Given the description of an element on the screen output the (x, y) to click on. 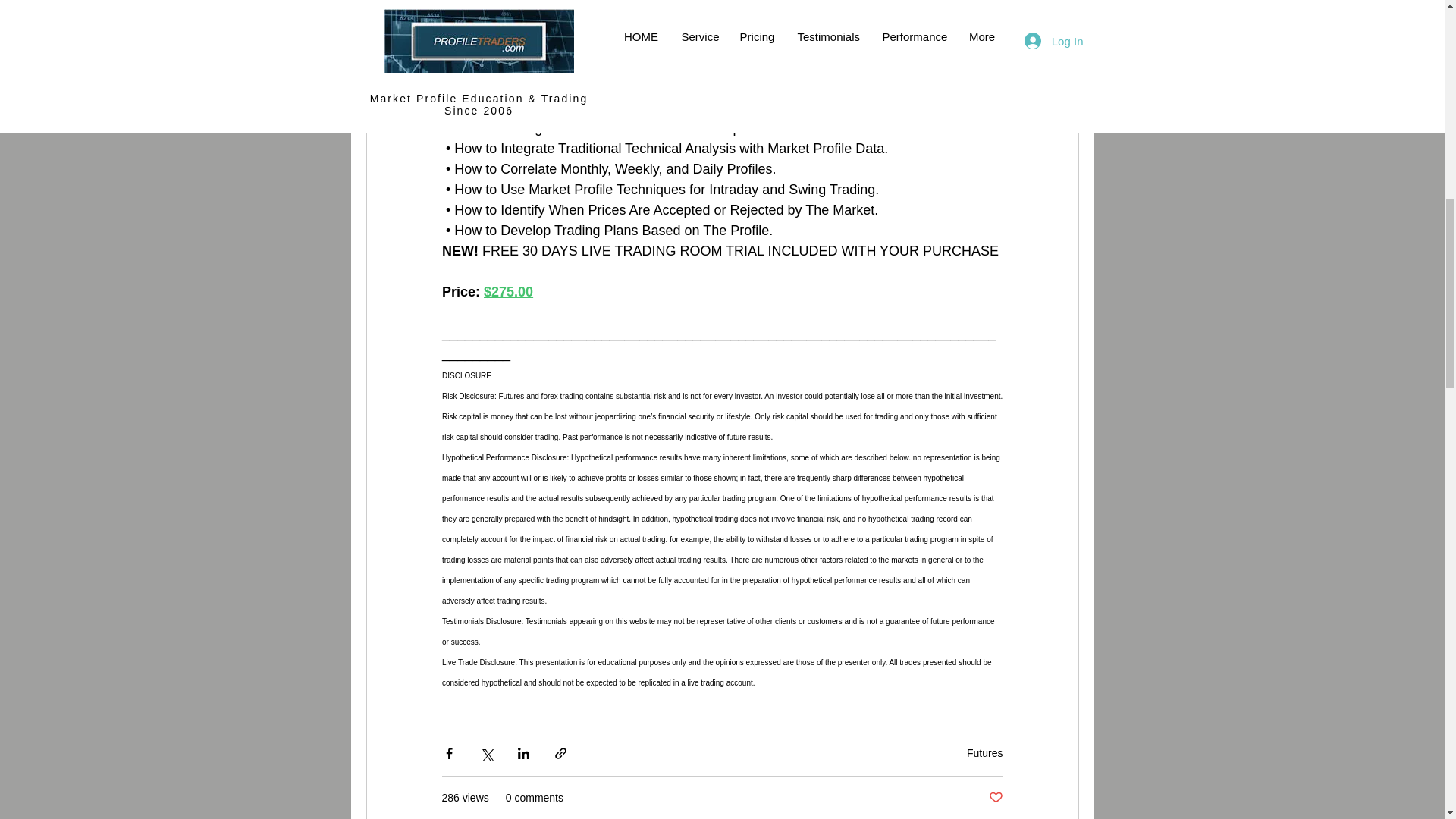
Post not marked as liked (995, 797)
Futures (984, 752)
